Given the description of an element on the screen output the (x, y) to click on. 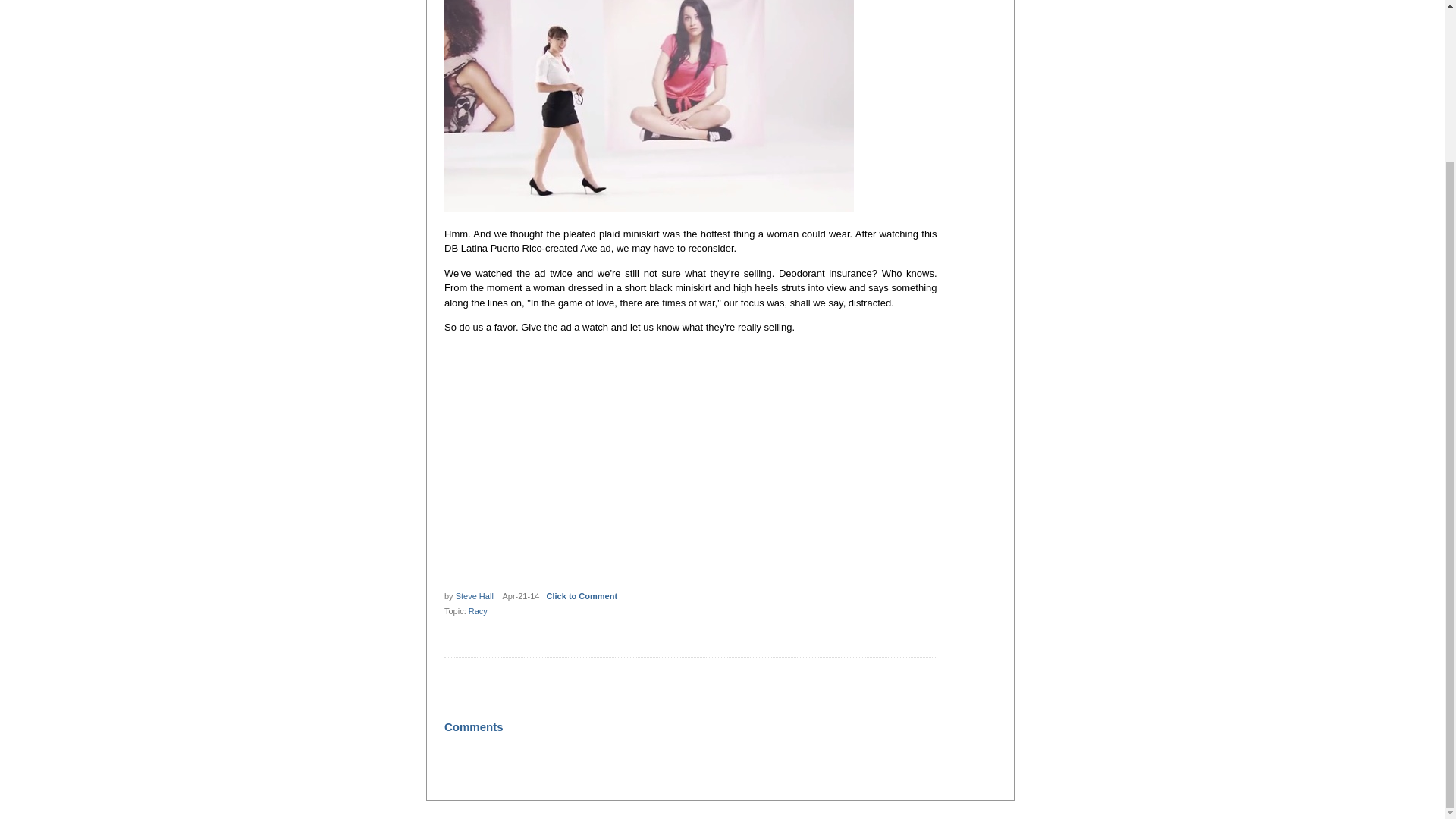
Steve Hall (474, 595)
Racy (477, 610)
Click to Comment (582, 595)
